Given the description of an element on the screen output the (x, y) to click on. 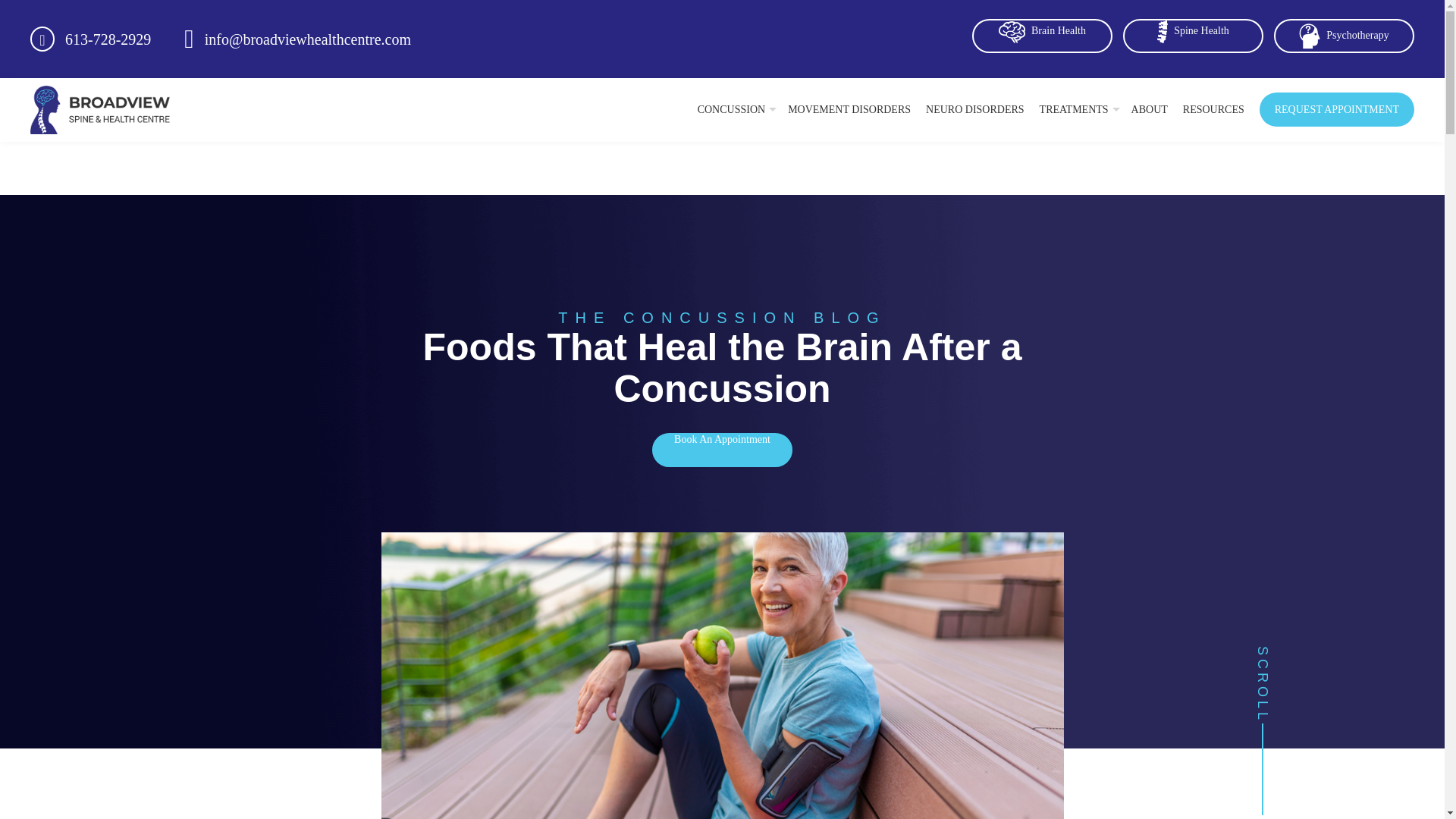
NEURO DISORDERS (975, 109)
ABOUT (1149, 109)
REQUEST APPOINTMENT (1336, 109)
CONCUSSION (735, 109)
SCROLL (1262, 655)
RESOURCES (1213, 109)
Psychotherapy (1343, 34)
TREATMENTS (1077, 109)
MOVEMENT DISORDERS (849, 109)
Brain Health (1042, 30)
Spine Health (1192, 30)
613-728-2929 (108, 38)
